Given the description of an element on the screen output the (x, y) to click on. 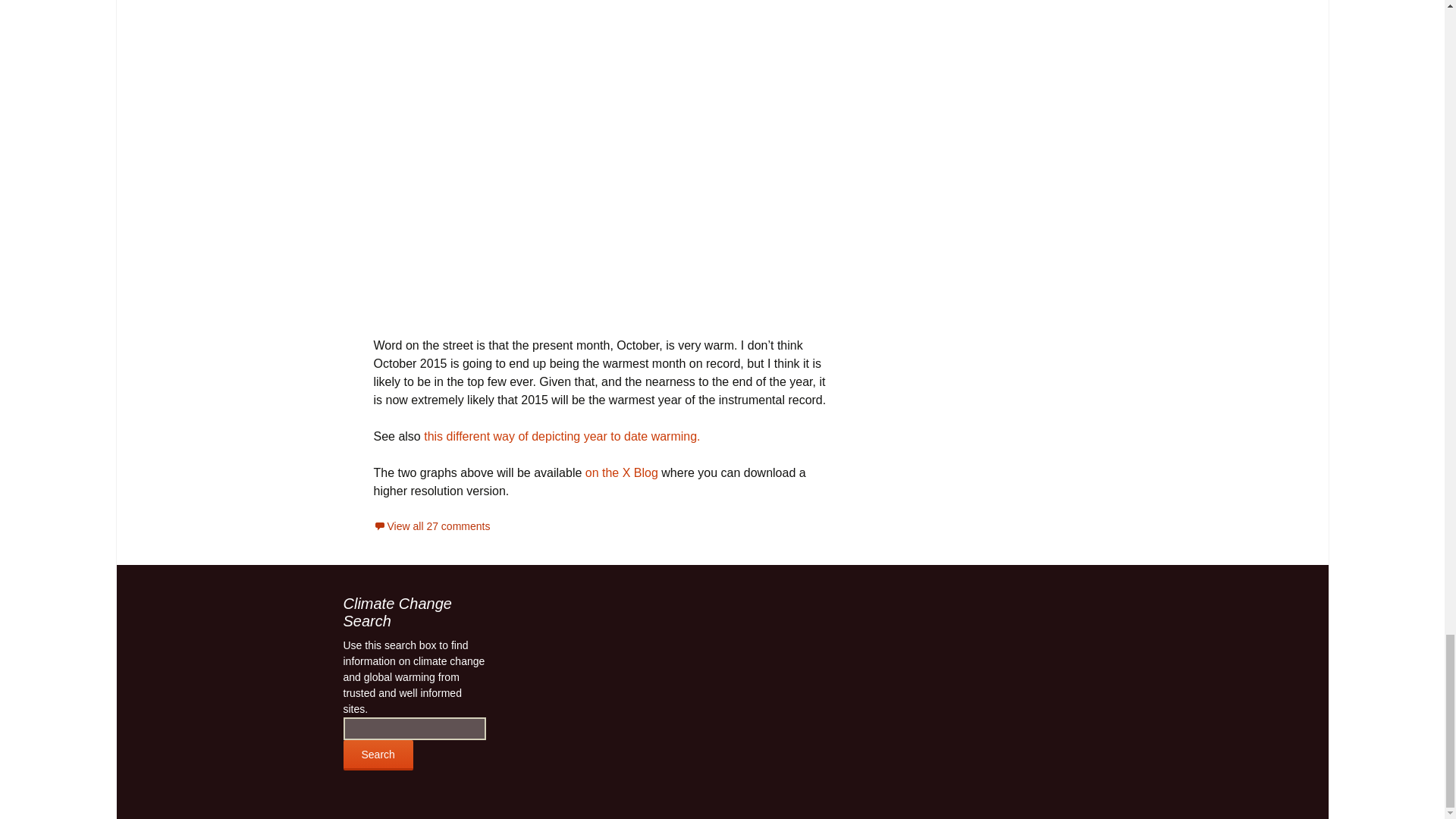
on the X Blog (623, 472)
this different way of depicting year to date warming. (561, 436)
View all 27 comments (430, 526)
Search (377, 755)
